Given the description of an element on the screen output the (x, y) to click on. 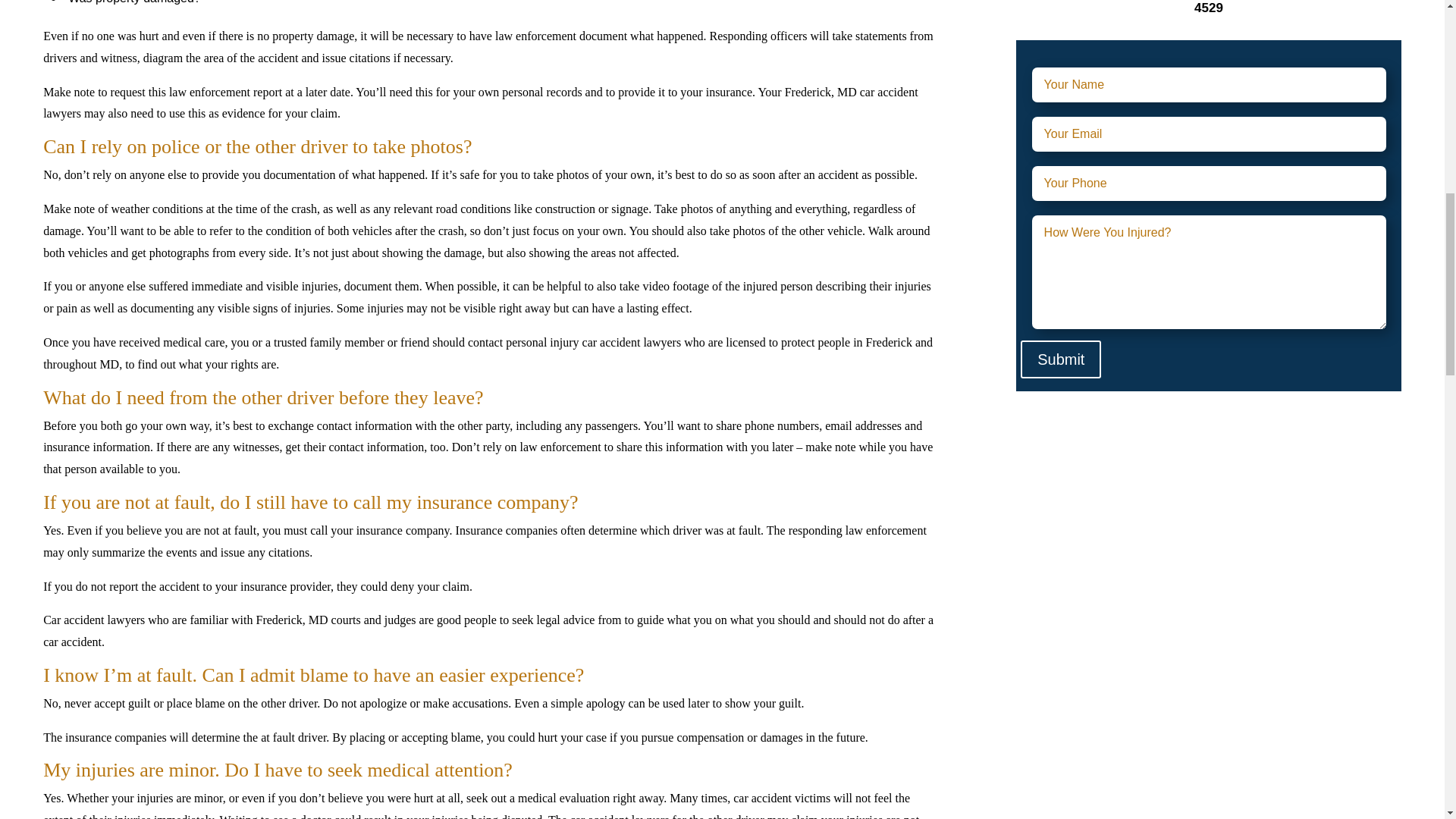
Only letters allowed. (1209, 84)
Only numbers allowed. (1209, 183)
Truck Accidents DC, MD, VA (1128, 637)
Wrongful Death DC, MD, VA (1128, 726)
Submit (1060, 359)
Motorcycle Accidents DC, MD, VA (1147, 548)
Automobile Accidents DC, MD, VA (1147, 460)
